Given the description of an element on the screen output the (x, y) to click on. 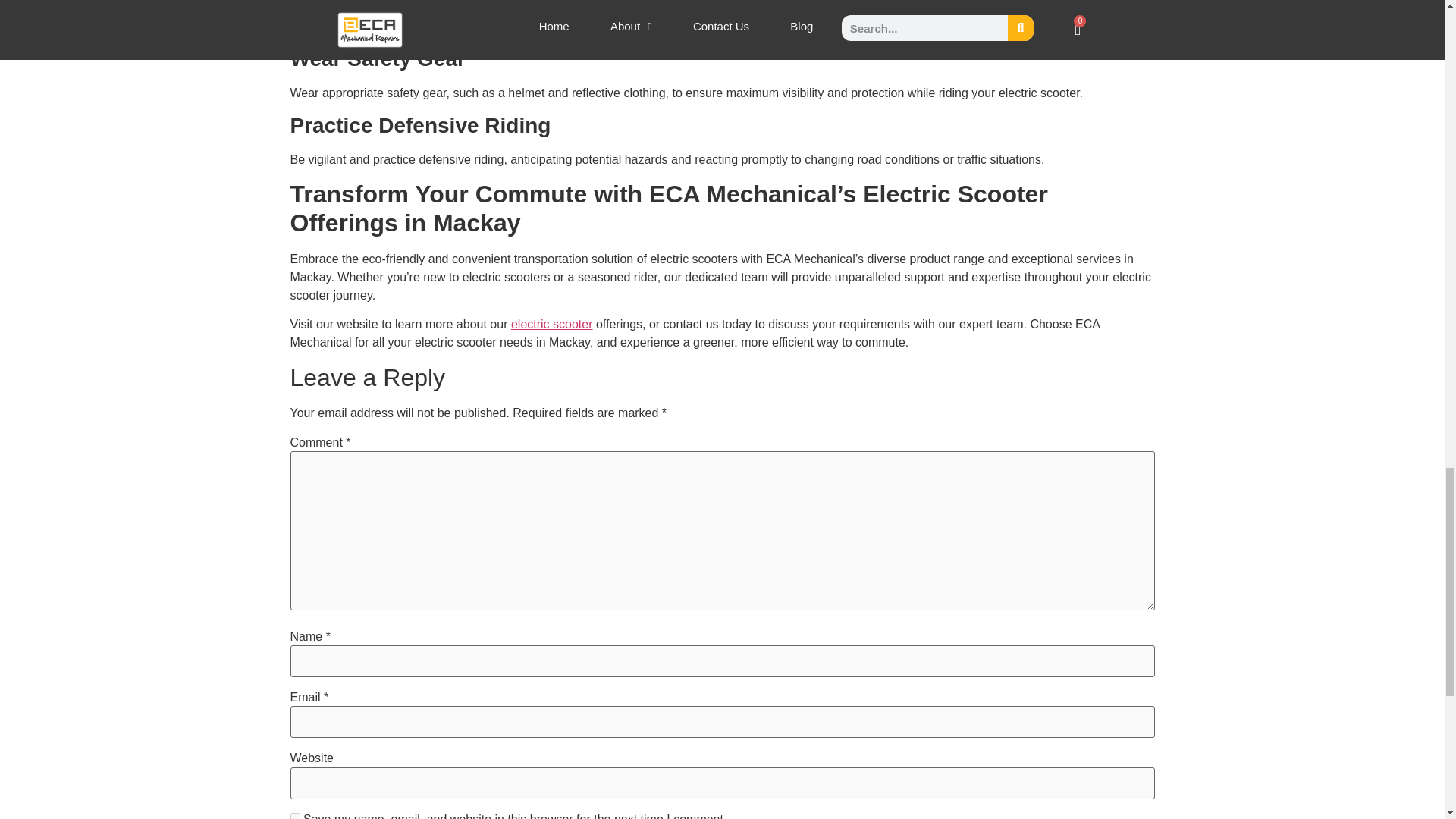
yes (294, 816)
